Given the description of an element on the screen output the (x, y) to click on. 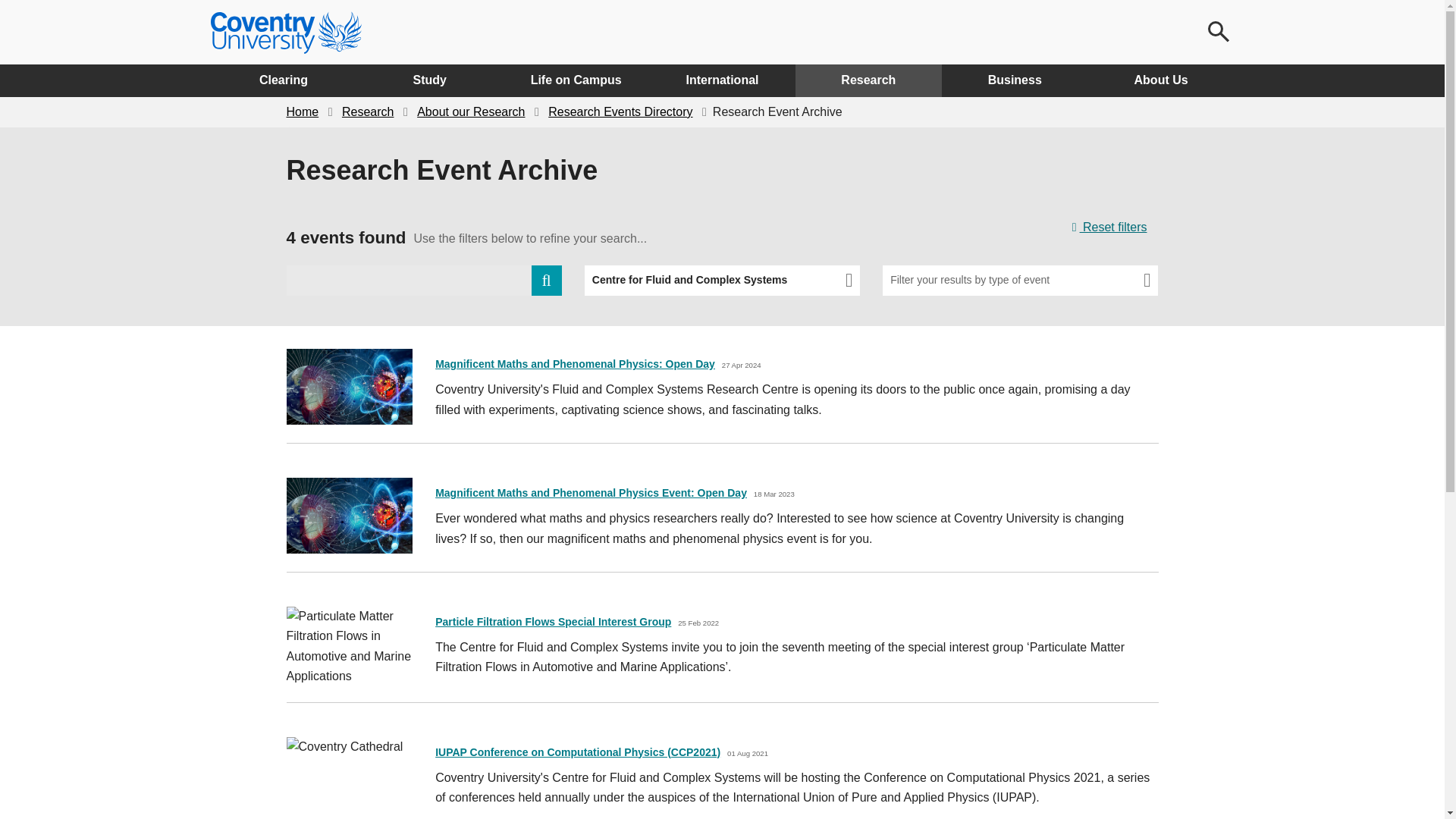
Study (429, 80)
Coventry University (286, 32)
Clearing (283, 80)
Life on Campus (575, 80)
